Given the description of an element on the screen output the (x, y) to click on. 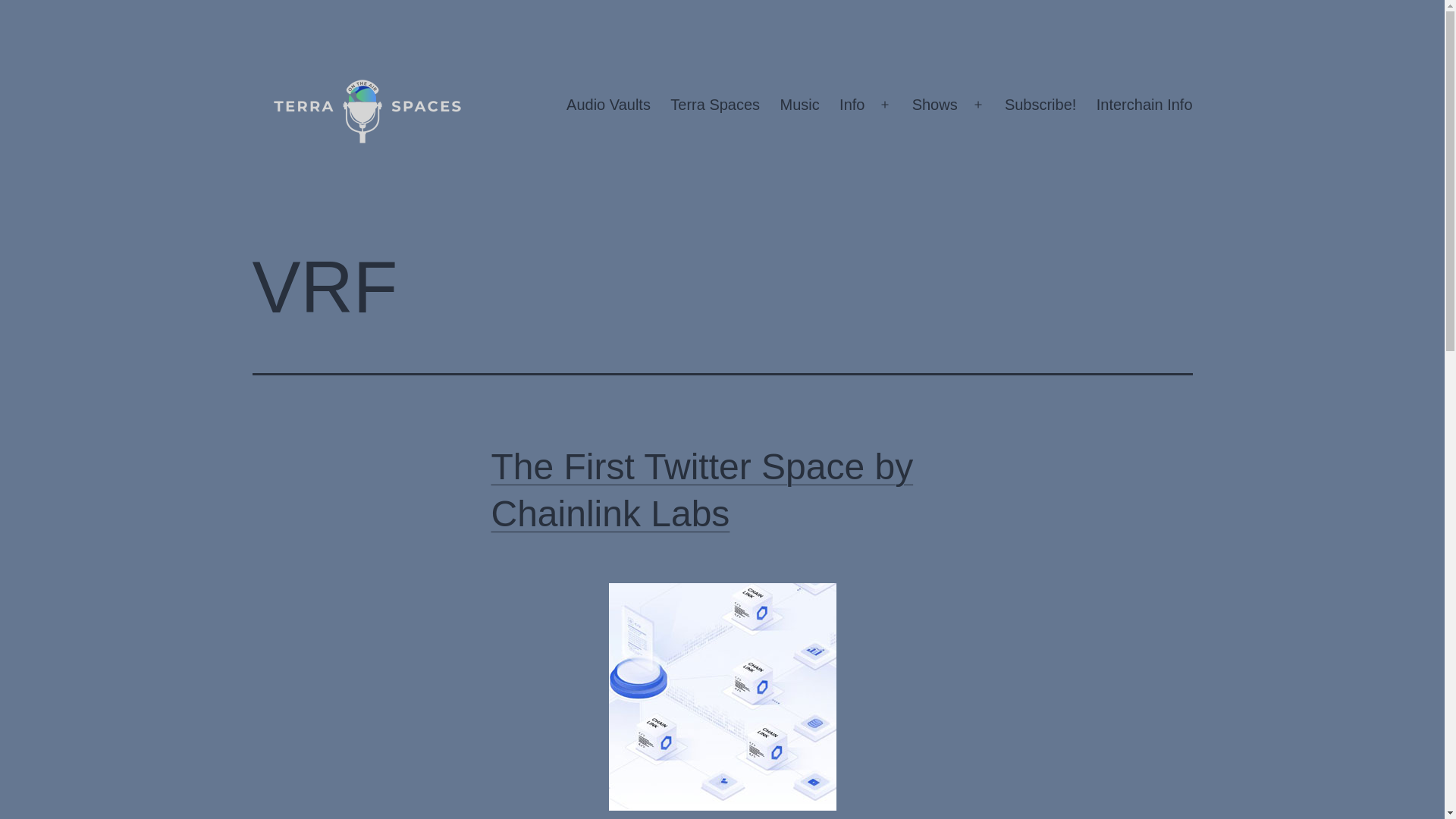
Terra Spaces (715, 105)
Audio Vaults (608, 105)
Subscribe! (1040, 105)
Info (852, 105)
Music (799, 105)
Shows (933, 105)
